Given the description of an element on the screen output the (x, y) to click on. 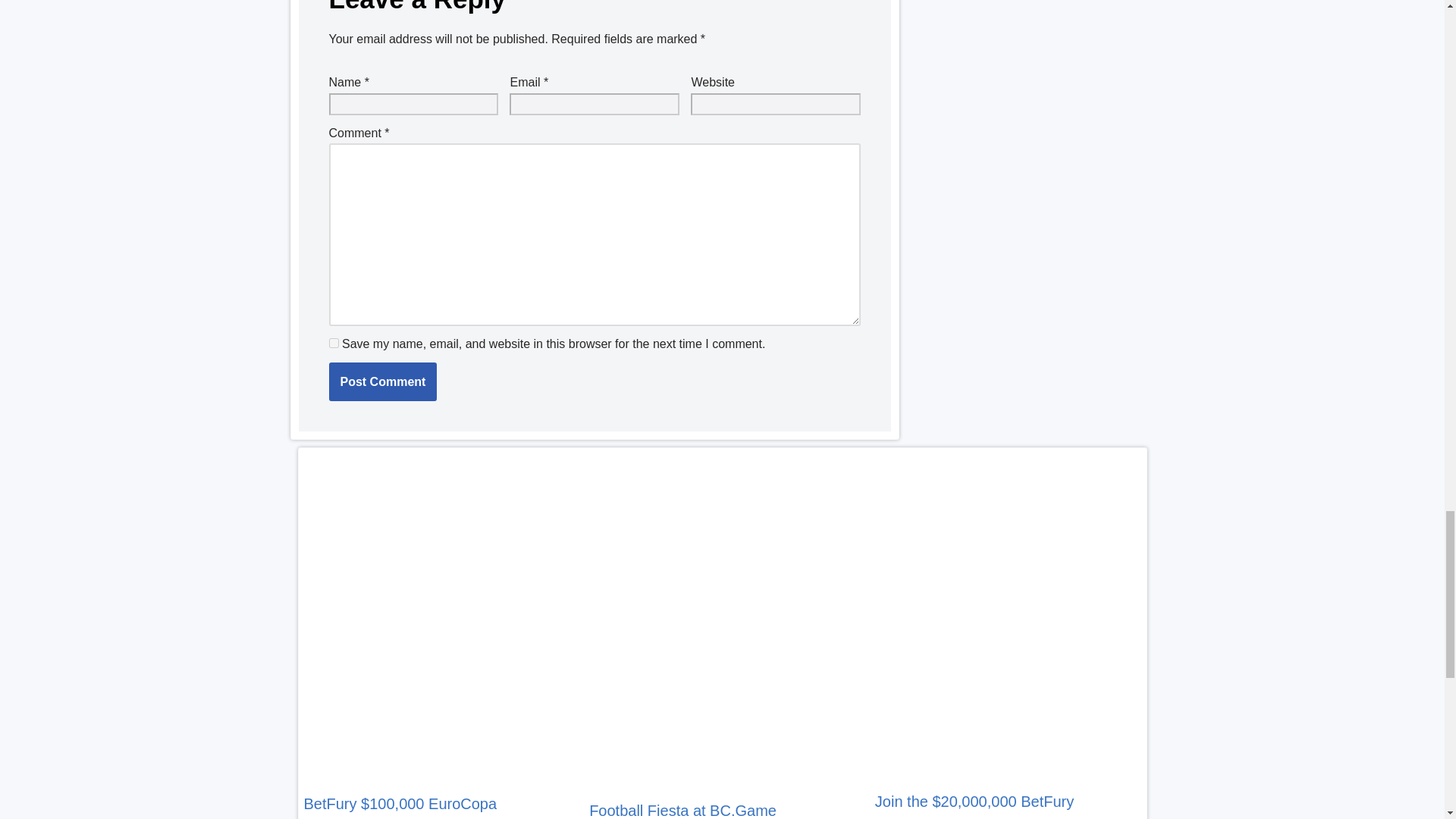
yes (334, 343)
Post Comment (383, 382)
